Given the description of an element on the screen output the (x, y) to click on. 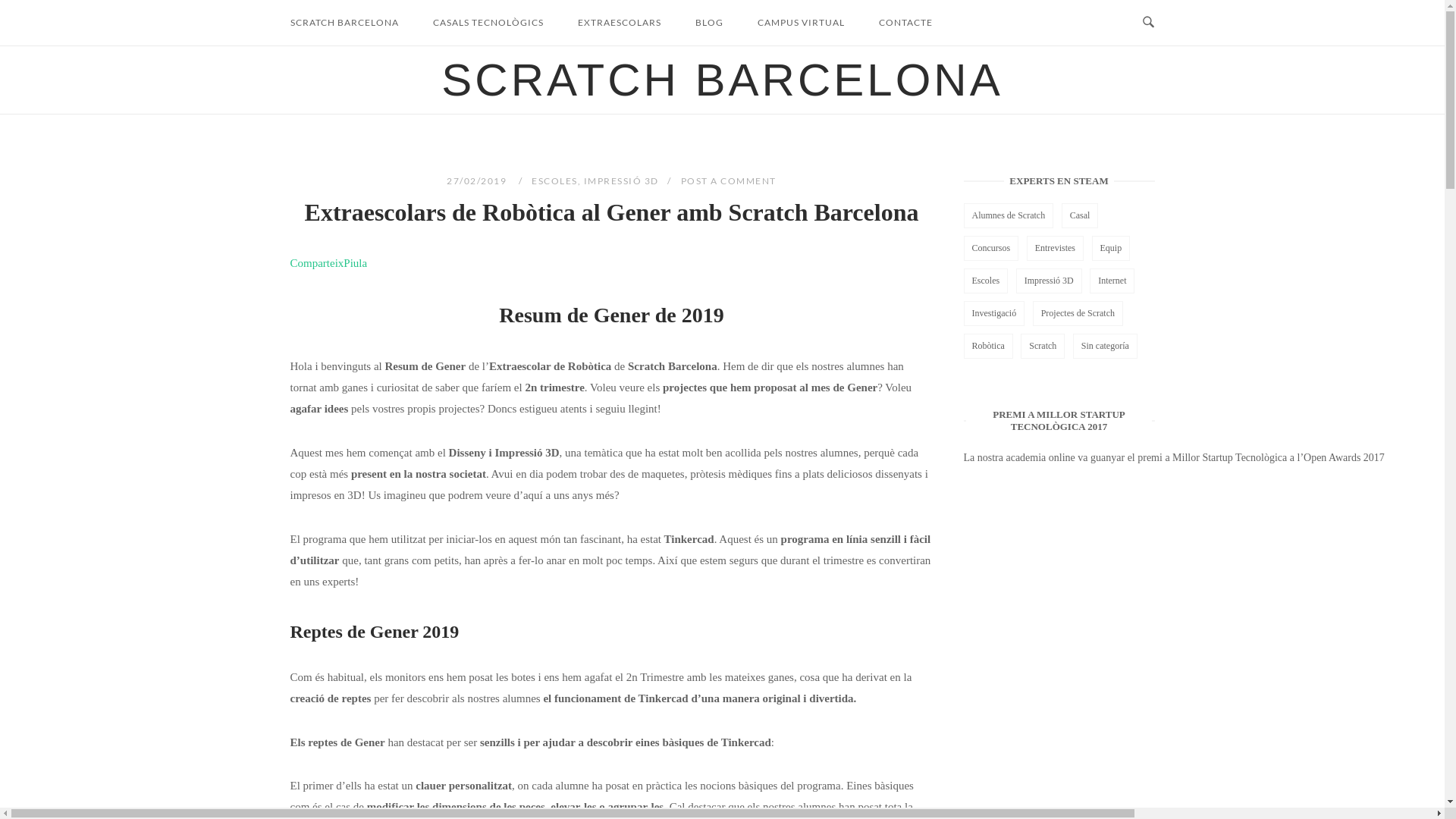
Scratch Element type: text (1042, 345)
Escoles Element type: text (985, 280)
CAMPUS VIRTUAL Element type: text (801, 22)
Internet Element type: text (1111, 280)
Comparteix Element type: text (316, 263)
Equip Element type: text (1111, 247)
CONTACTE Element type: text (905, 22)
Entrevistes Element type: text (1054, 247)
Skip to content Element type: text (0, 0)
BLOG Element type: text (709, 22)
SCRATCH BARCELONA Element type: text (344, 22)
Piula Element type: text (355, 263)
Alumnes de Scratch Element type: text (1008, 215)
Projectes de Scratch Element type: text (1077, 313)
Casal Element type: text (1079, 215)
ESCOLES Element type: text (554, 180)
EXTRAESCOLARS Element type: text (618, 22)
SCRATCH BARCELONA Element type: text (721, 79)
Concursos Element type: text (990, 247)
POST A COMMENT Element type: text (728, 180)
